Given the description of an element on the screen output the (x, y) to click on. 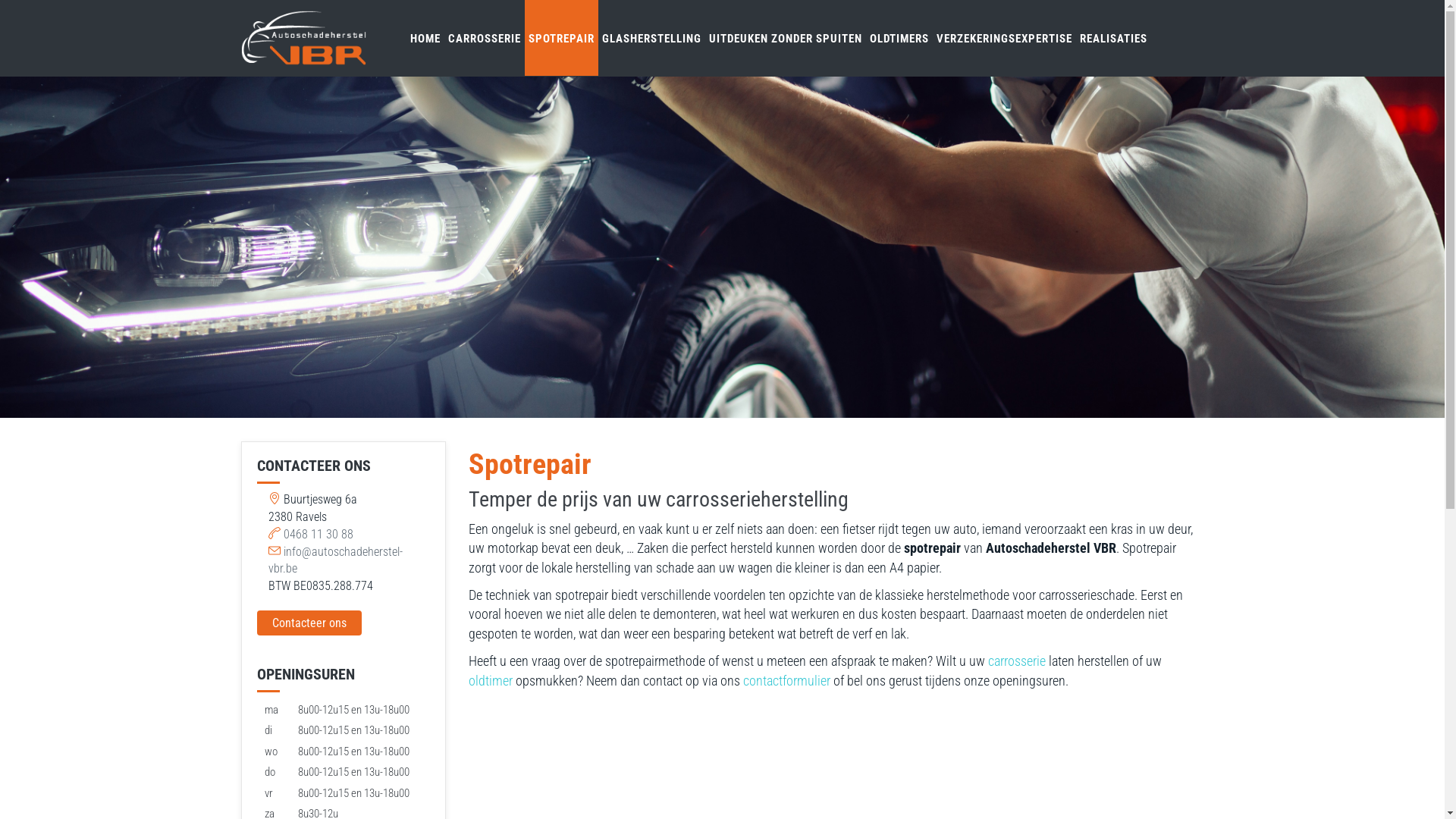
UITDEUKEN ZONDER SPUITEN Element type: text (785, 37)
oldtimer Element type: text (490, 680)
OLDTIMERS Element type: text (899, 37)
REALISATIES Element type: text (1112, 37)
VERZEKERINGSEXPERTISE Element type: text (1004, 37)
contactformulier Element type: text (786, 680)
CARROSSERIE Element type: text (484, 37)
SPOTREPAIR Element type: text (561, 37)
GLASHERSTELLING Element type: text (650, 37)
carrosserie Element type: text (1015, 660)
Contacteer ons Element type: text (308, 622)
info@autoschadeherstel-vbr.be Element type: text (335, 560)
0468 11 30 88 Element type: text (318, 534)
HOME Element type: text (425, 37)
